Given the description of an element on the screen output the (x, y) to click on. 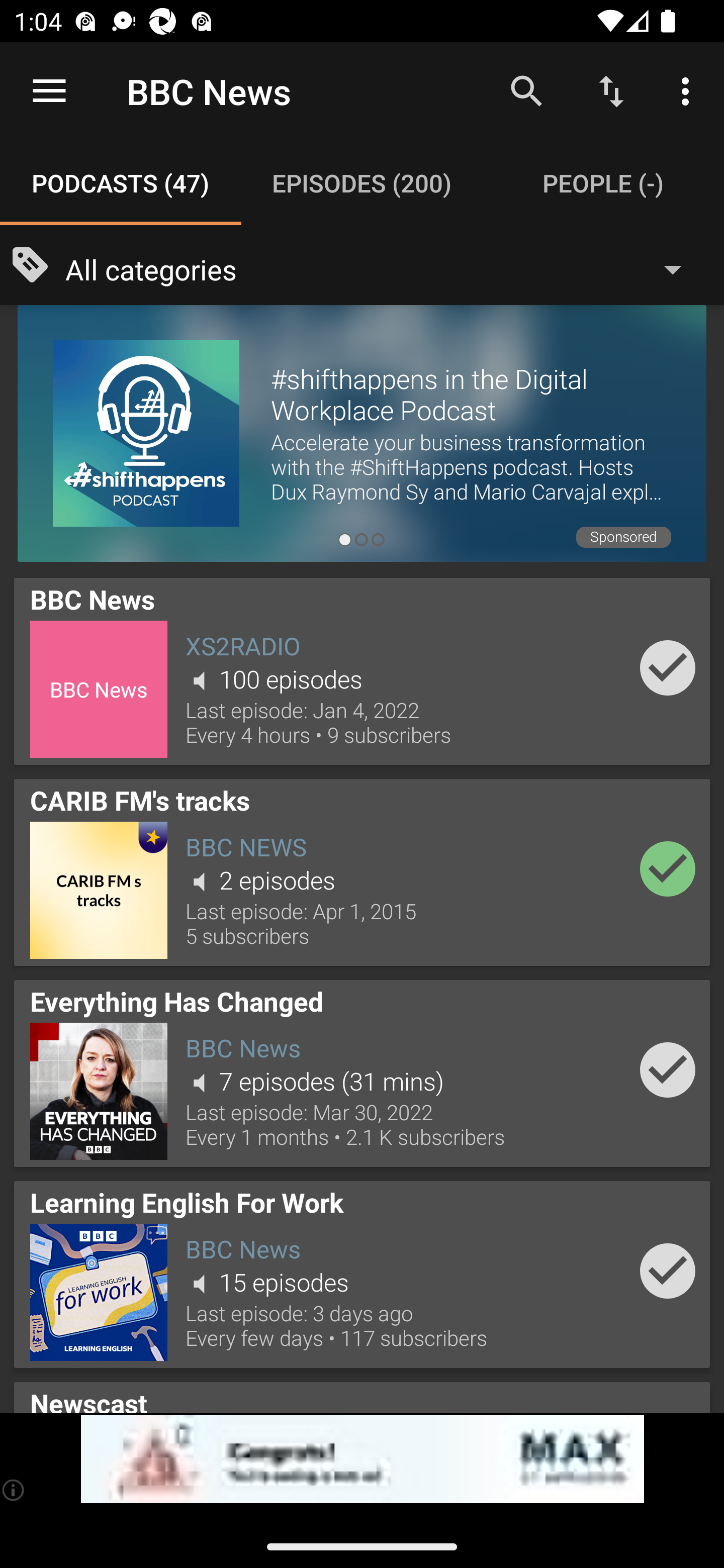
Open navigation sidebar (49, 91)
Search (526, 90)
Sort (611, 90)
More options (688, 90)
Episodes (200) EPISODES (200) (361, 183)
People (-) PEOPLE (-) (603, 183)
All categories (383, 268)
Add (667, 667)
Add (667, 868)
Add (667, 1069)
Add (667, 1271)
app-monetization (362, 1459)
(i) (14, 1489)
